Given the description of an element on the screen output the (x, y) to click on. 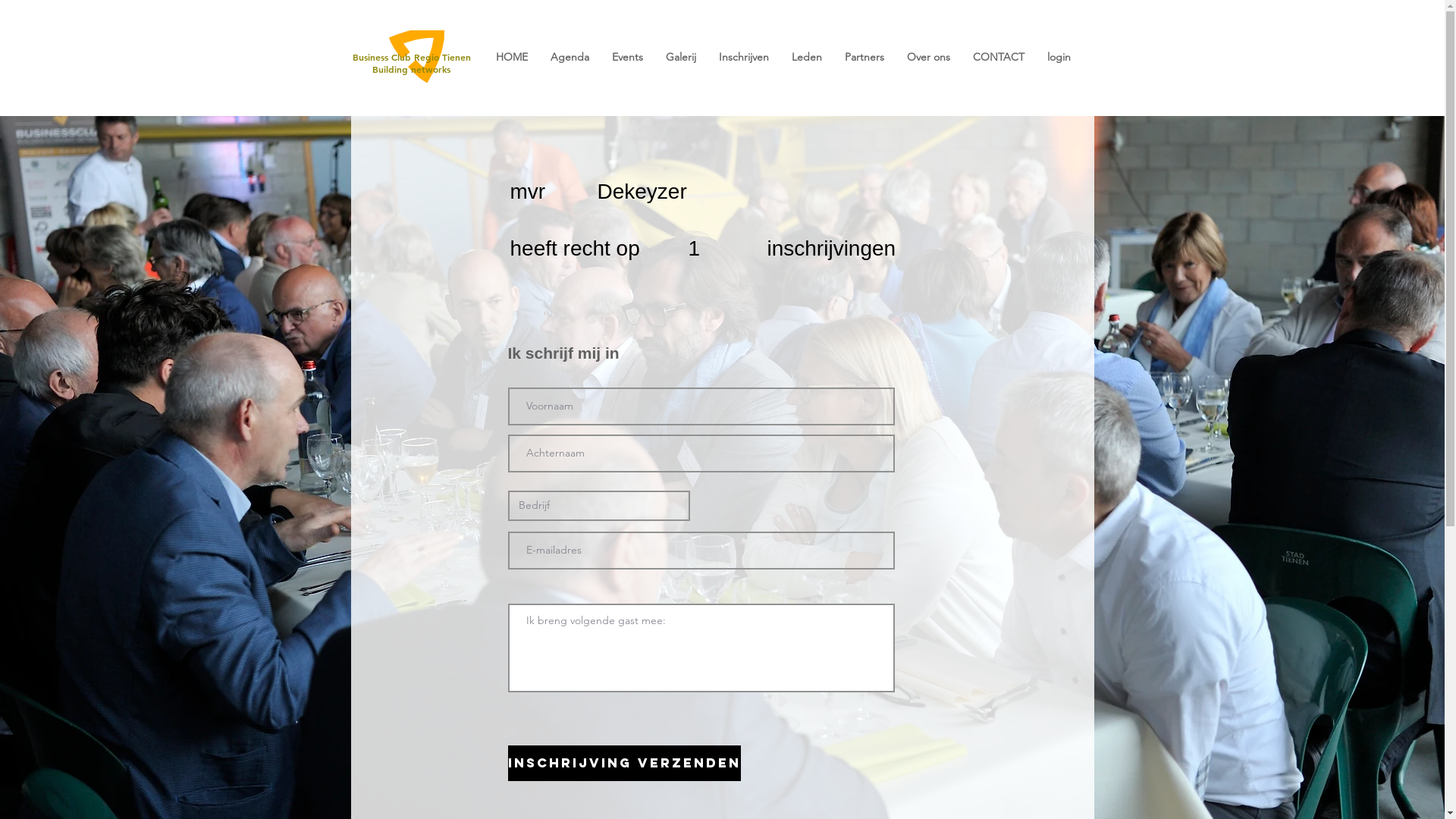
Inschrijving verzenden Element type: text (624, 763)
CONTACT Element type: text (998, 56)
Inschrijven Element type: text (742, 56)
Partners Element type: text (863, 56)
Agenda Element type: text (568, 56)
Over ons Element type: text (927, 56)
Galerij Element type: text (679, 56)
logo bc2000 vector 2.png Element type: hover (417, 56)
Leden Element type: text (805, 56)
HOME Element type: text (510, 56)
